Given the description of an element on the screen output the (x, y) to click on. 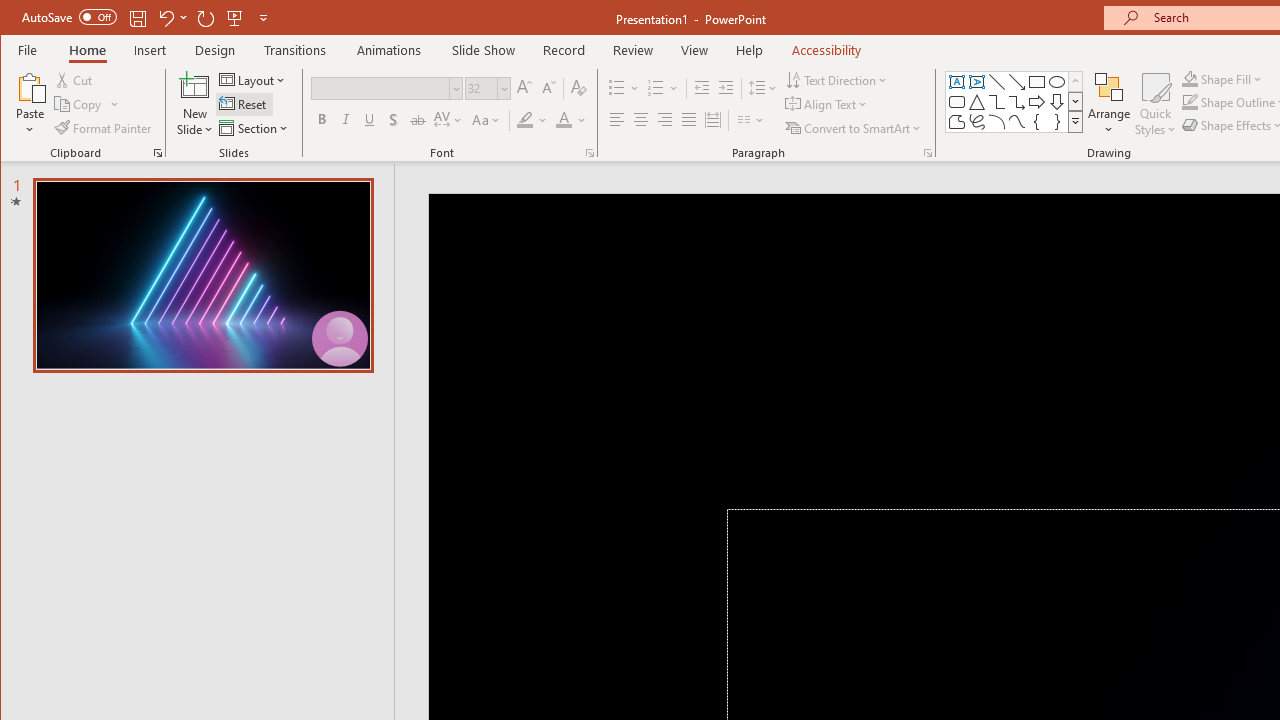
Text Highlight Color (532, 119)
Cut (74, 80)
Arrow: Down (1057, 102)
Left Brace (1036, 121)
Rectangle (1036, 82)
Increase Font Size (524, 88)
Shadow (393, 119)
Underline (369, 119)
